Given the description of an element on the screen output the (x, y) to click on. 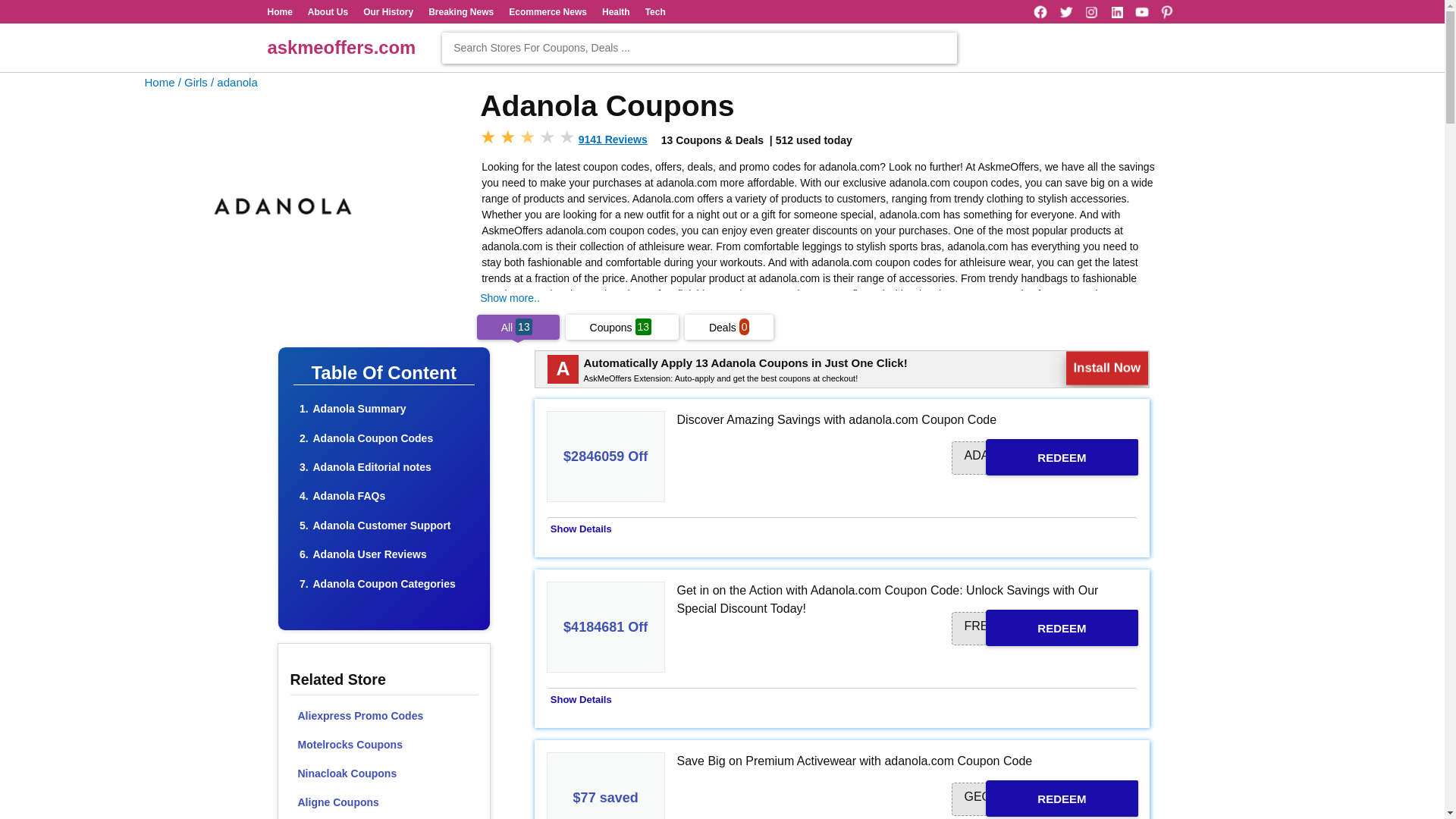
Home (279, 11)
Health (616, 11)
Askmeoffers Homepage (159, 82)
Twitter Username (1066, 12)
Our History (387, 11)
LinkedIn (1116, 12)
LinkedIn (1116, 12)
Ecommerce News (547, 11)
Our History (387, 11)
Deals 0 (728, 327)
